Given the description of an element on the screen output the (x, y) to click on. 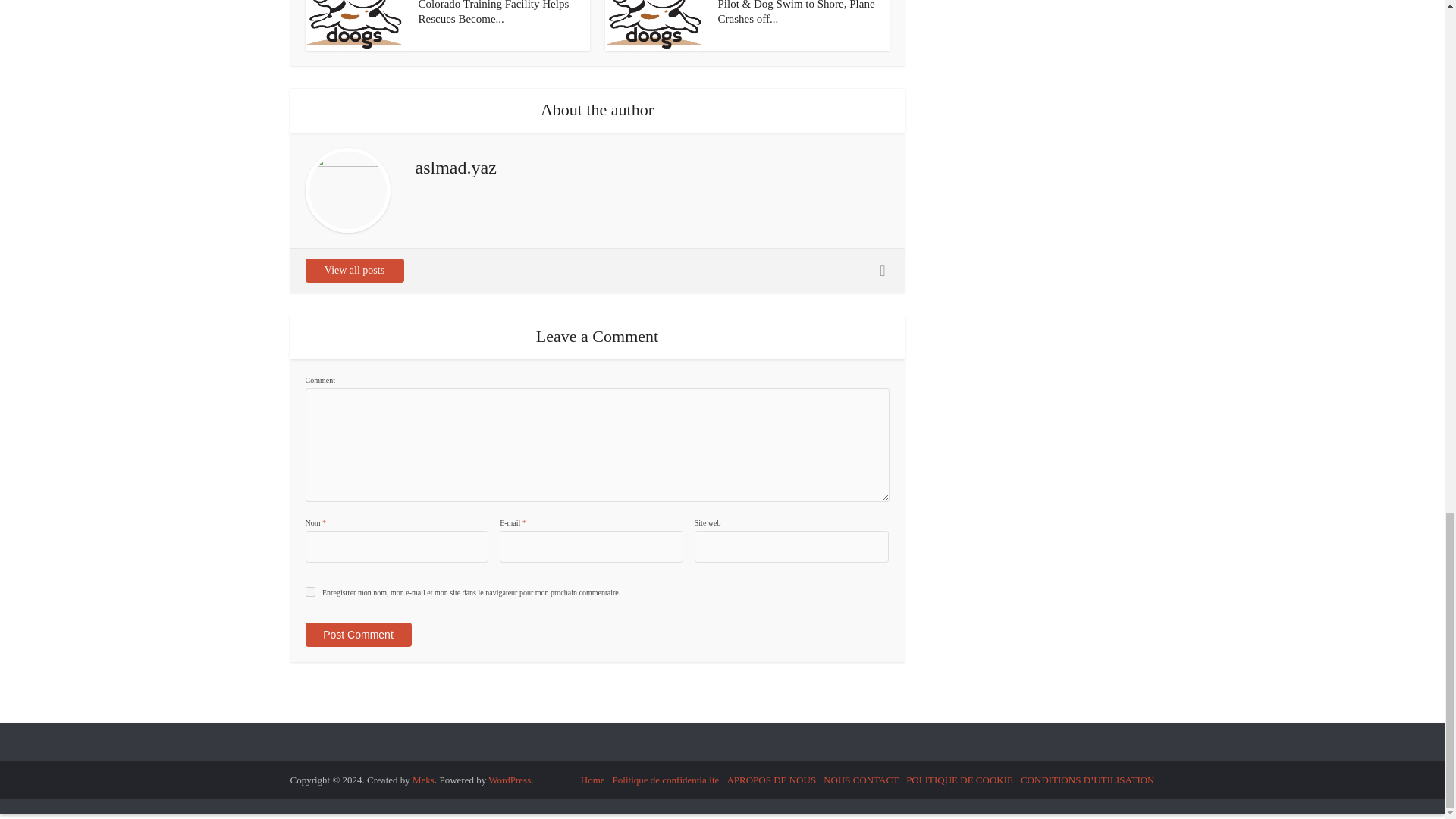
Post Comment (357, 634)
yes (309, 592)
